Given the description of an element on the screen output the (x, y) to click on. 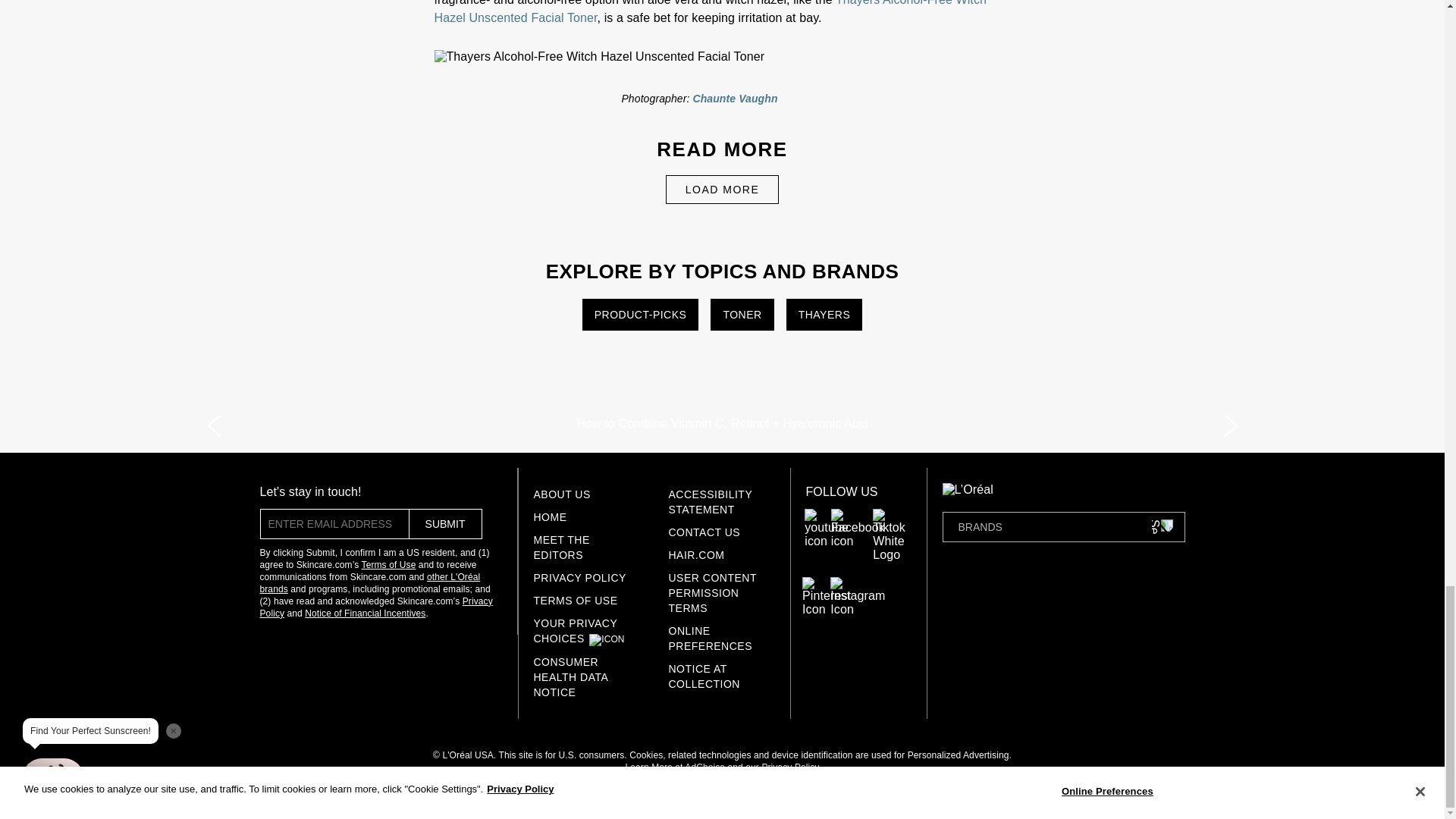
Accessibility Statement (710, 501)
About Us (562, 494)
Hair.com (696, 554)
Privacy Policy (580, 577)
Contact Us (704, 532)
User Content Permission Terms (712, 592)
Consumer Health Data Notice (571, 677)
Online Preferences (710, 637)
Meet the Editors (561, 547)
Notice at collection (703, 676)
Home (550, 517)
Your Privacy Choices (575, 630)
Terms of Use (575, 600)
